Given the description of an element on the screen output the (x, y) to click on. 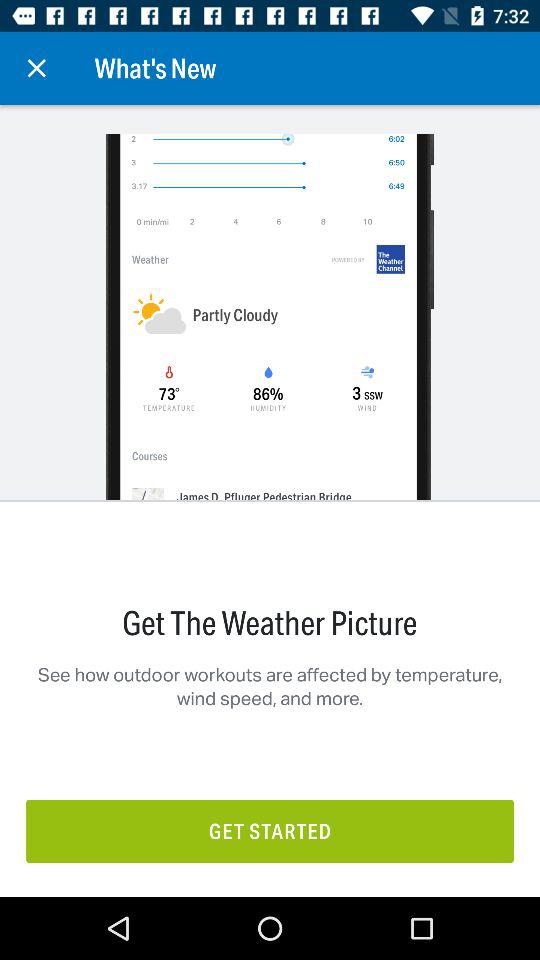
swipe until get started (269, 830)
